Given the description of an element on the screen output the (x, y) to click on. 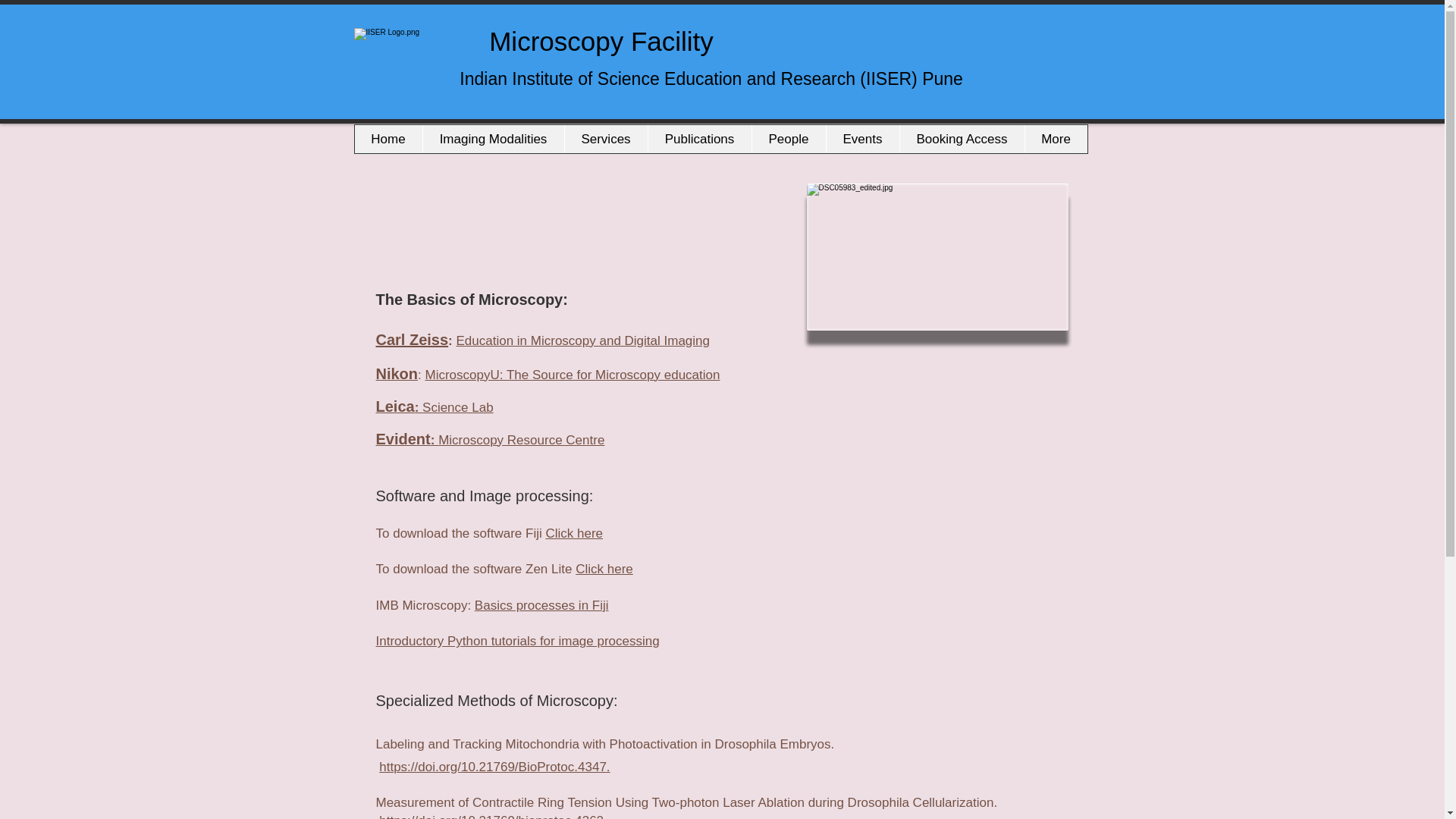
Click here (573, 533)
Evident: Microscopy Resource Centre (490, 440)
Nikon (397, 374)
Carl Zeiss (411, 339)
Click here (604, 568)
Home (388, 139)
Introductory Python tutorials for image processing (517, 640)
MicroscopyU: The Source for Microscopy education (572, 374)
Booking Access (962, 139)
               Microscopy Facility (537, 39)
